Given the description of an element on the screen output the (x, y) to click on. 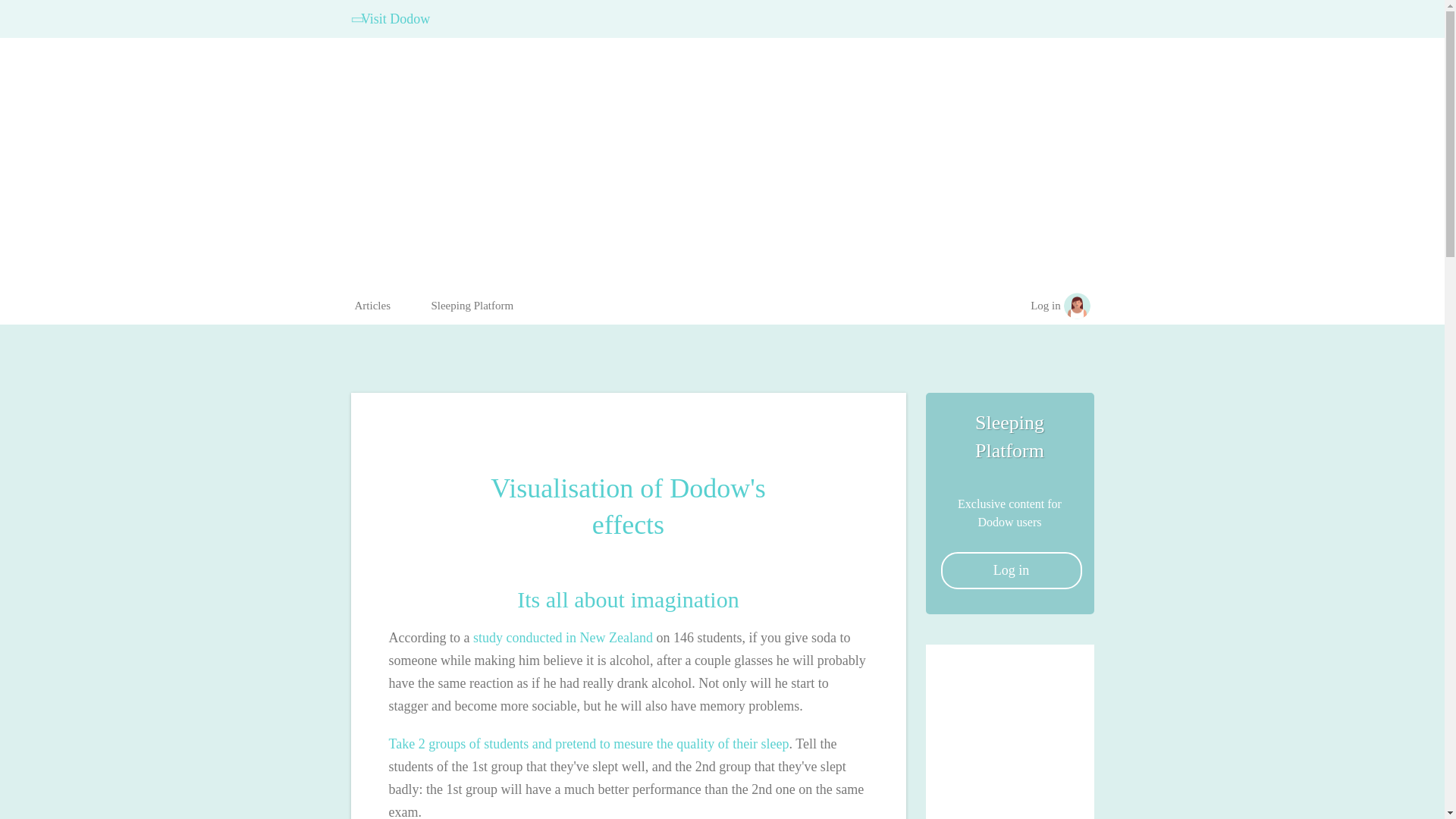
Log in (1046, 305)
Visit Dodow (392, 18)
Sleeping Platform (471, 305)
Log in (1010, 570)
study conducted in New Zealand (562, 637)
Articles (372, 305)
